Given the description of an element on the screen output the (x, y) to click on. 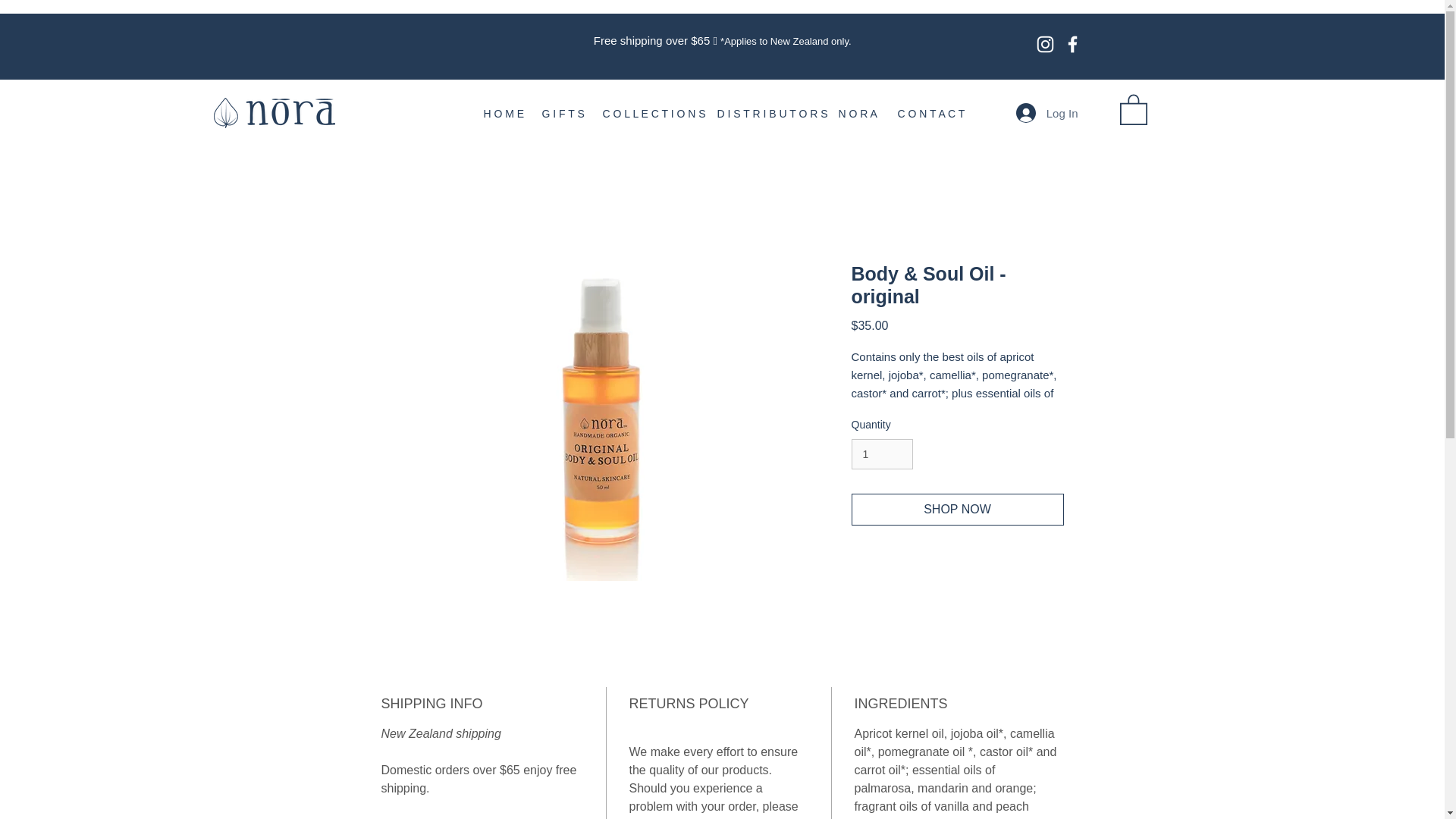
Log In (1047, 112)
SHOP NOW (956, 509)
H O M E (500, 113)
C O L L E C T I O N S (648, 113)
N O R A (856, 113)
1 (881, 454)
